Given the description of an element on the screen output the (x, y) to click on. 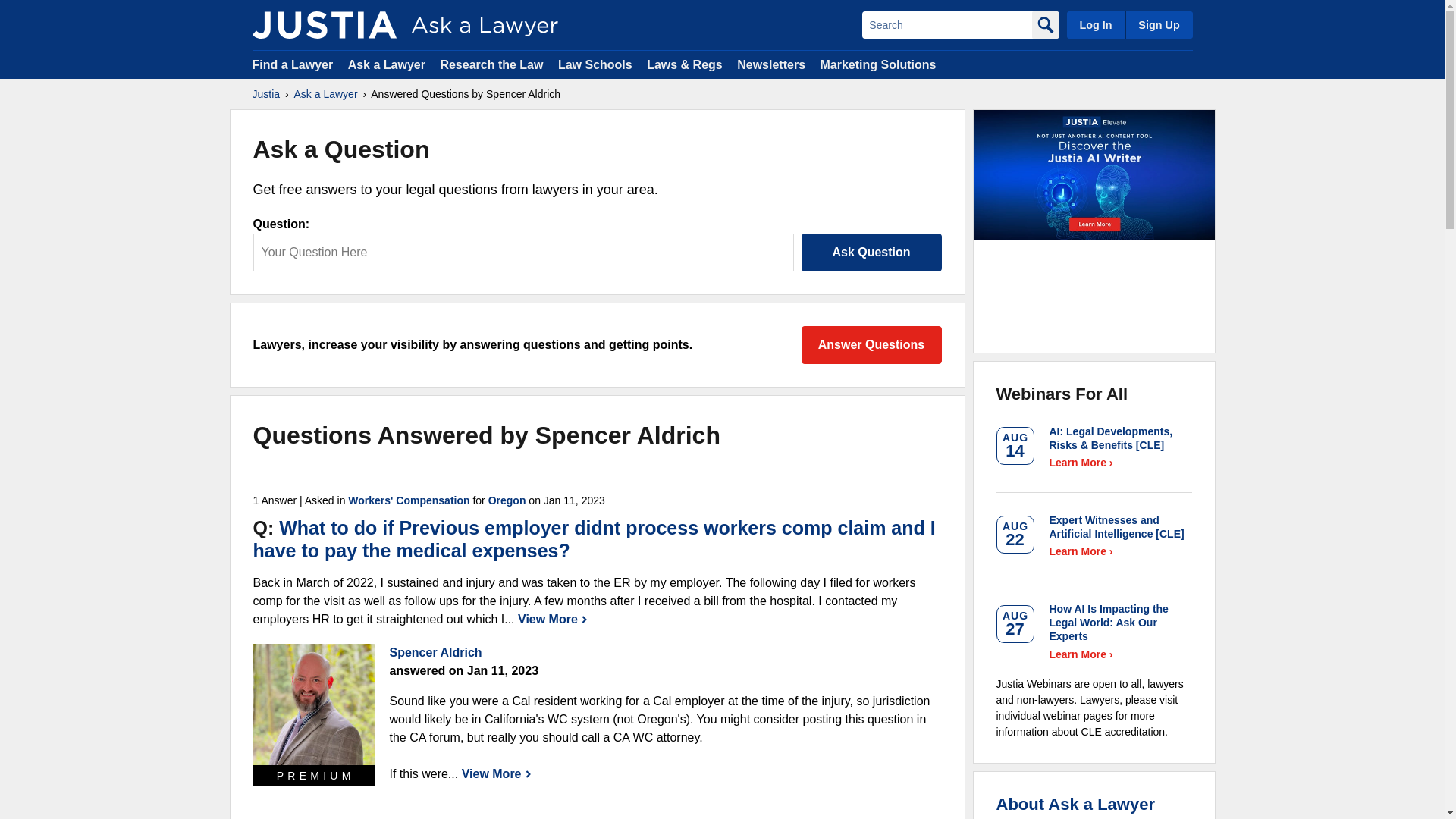
Newsletters (770, 64)
Marketing Solutions (877, 64)
Research the Law (491, 64)
Spencer  Aldrich (313, 703)
Log In (1094, 24)
Oregon (506, 500)
Answer Questions (870, 344)
Spencer Aldrich (435, 652)
View More (553, 618)
